Given the description of an element on the screen output the (x, y) to click on. 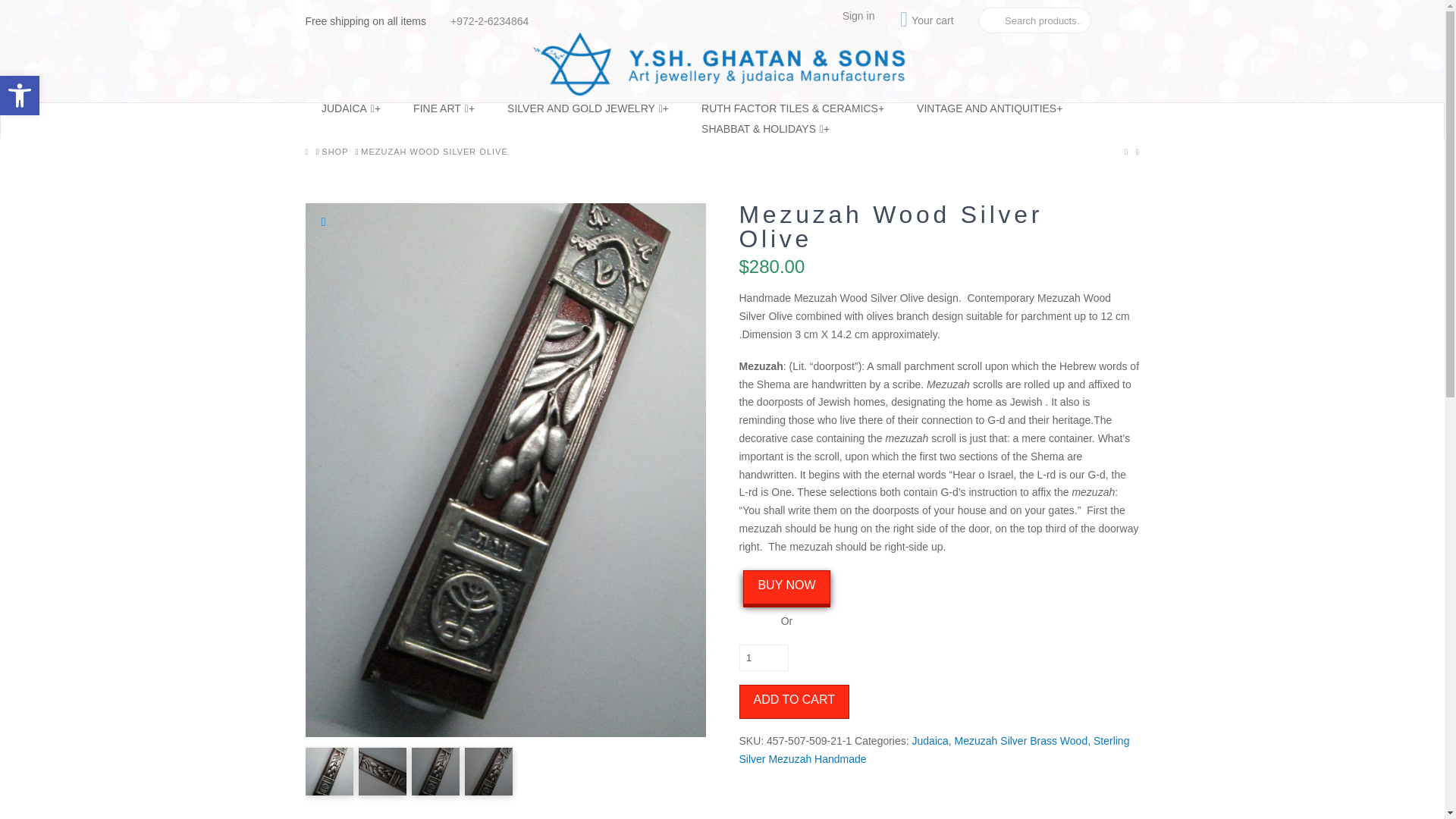
You Are Here (434, 152)
1 (762, 657)
jerusalem-mall.co.il (722, 64)
Search (16, 11)
Sign in (859, 15)
VINTAGE AND ANTIQUITIES (989, 113)
JUDAICA (350, 113)
FINE ART (444, 113)
View your shopping cart (926, 20)
Your cart (926, 20)
Accessibility Tools (19, 95)
SILVER AND GOLD JEWELRY (588, 113)
Accessibility Tools (19, 95)
